Given the description of an element on the screen output the (x, y) to click on. 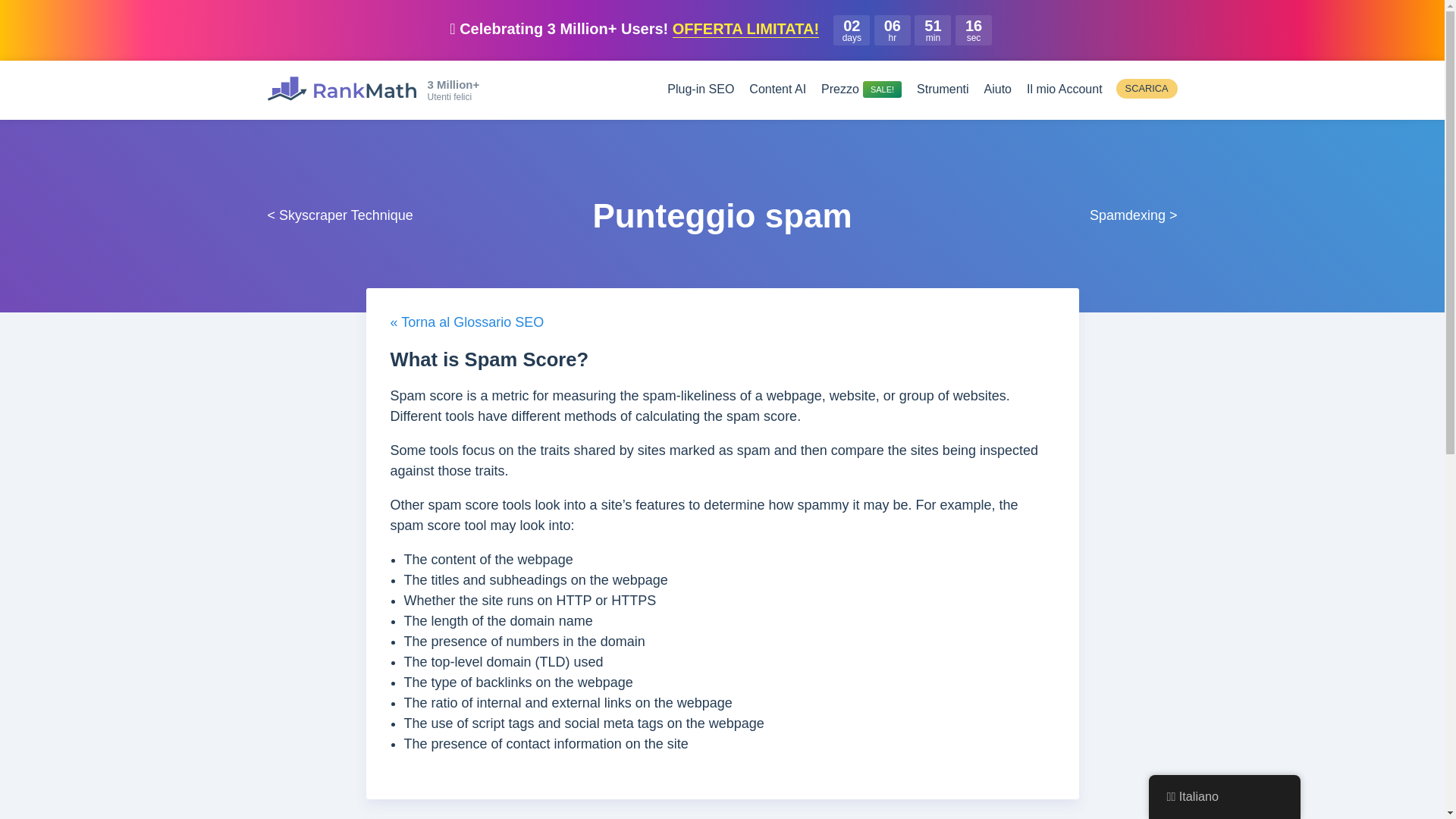
Plug-in SEO (699, 88)
Accedi al tuo account (1064, 88)
Il mio Account (1064, 88)
SCARICA (1146, 88)
Coltellino svizzero di WordPress SEO (340, 88)
Caratteristiche del plug-in Rank Math SEO (699, 88)
Prezzo (861, 88)
OFFERTA LIMITATA! (745, 28)
Content AI (777, 88)
